Given the description of an element on the screen output the (x, y) to click on. 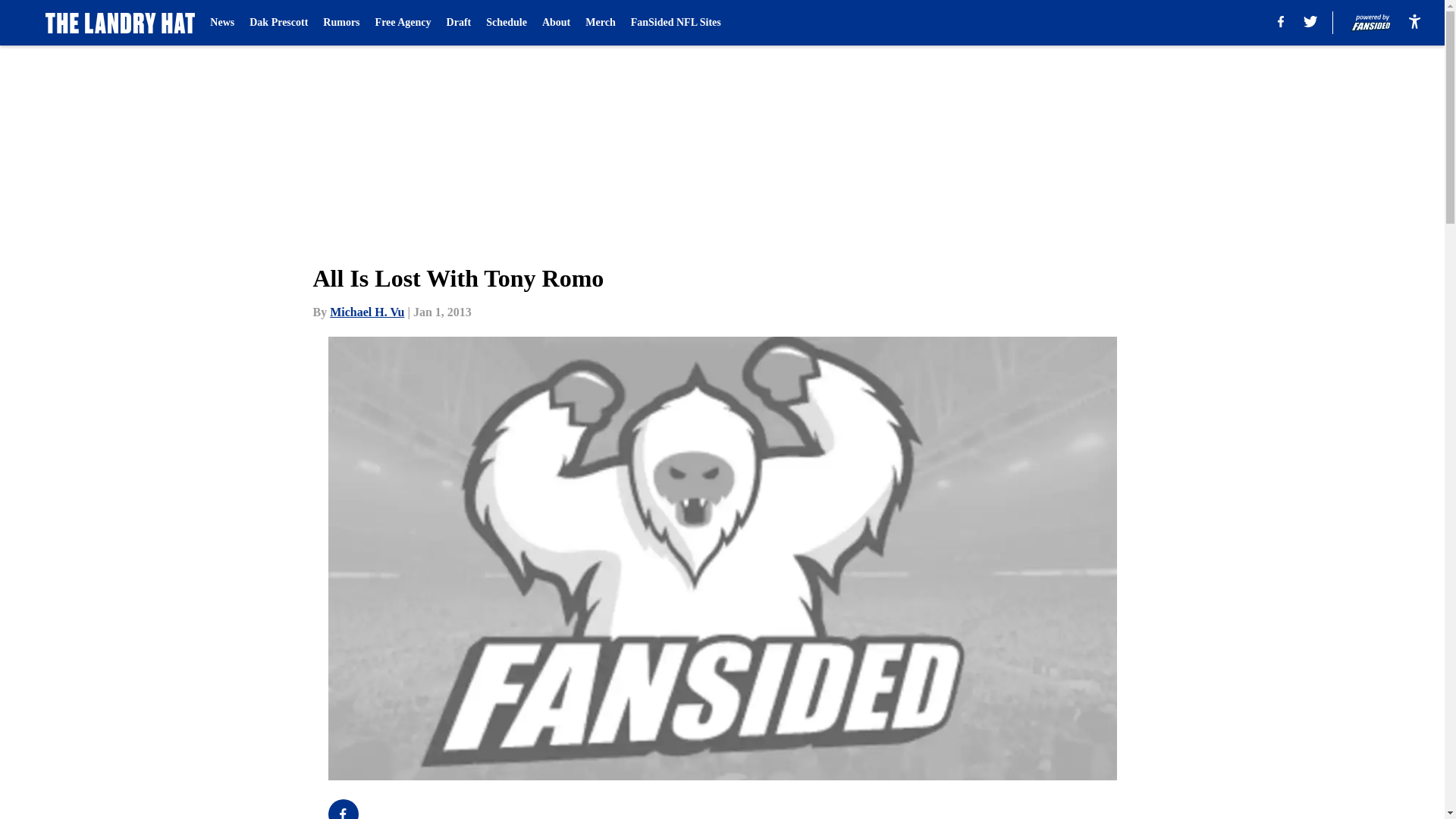
Schedule (506, 22)
News (221, 22)
Draft (458, 22)
Merch (599, 22)
Michael H. Vu (367, 311)
About (555, 22)
Dak Prescott (277, 22)
Free Agency (402, 22)
FanSided NFL Sites (675, 22)
Rumors (341, 22)
